Given the description of an element on the screen output the (x, y) to click on. 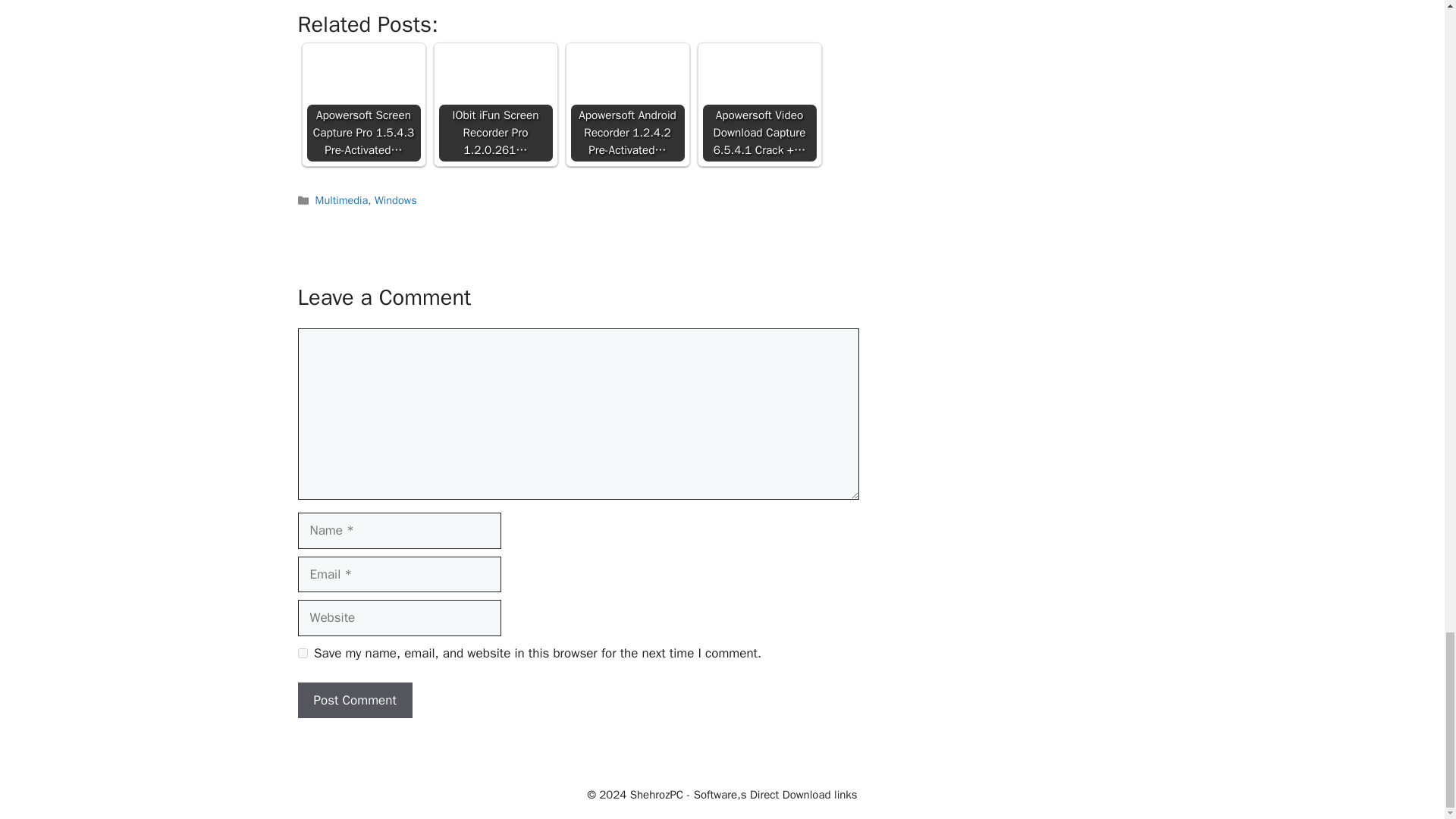
Post Comment (354, 700)
yes (302, 653)
